Given the description of an element on the screen output the (x, y) to click on. 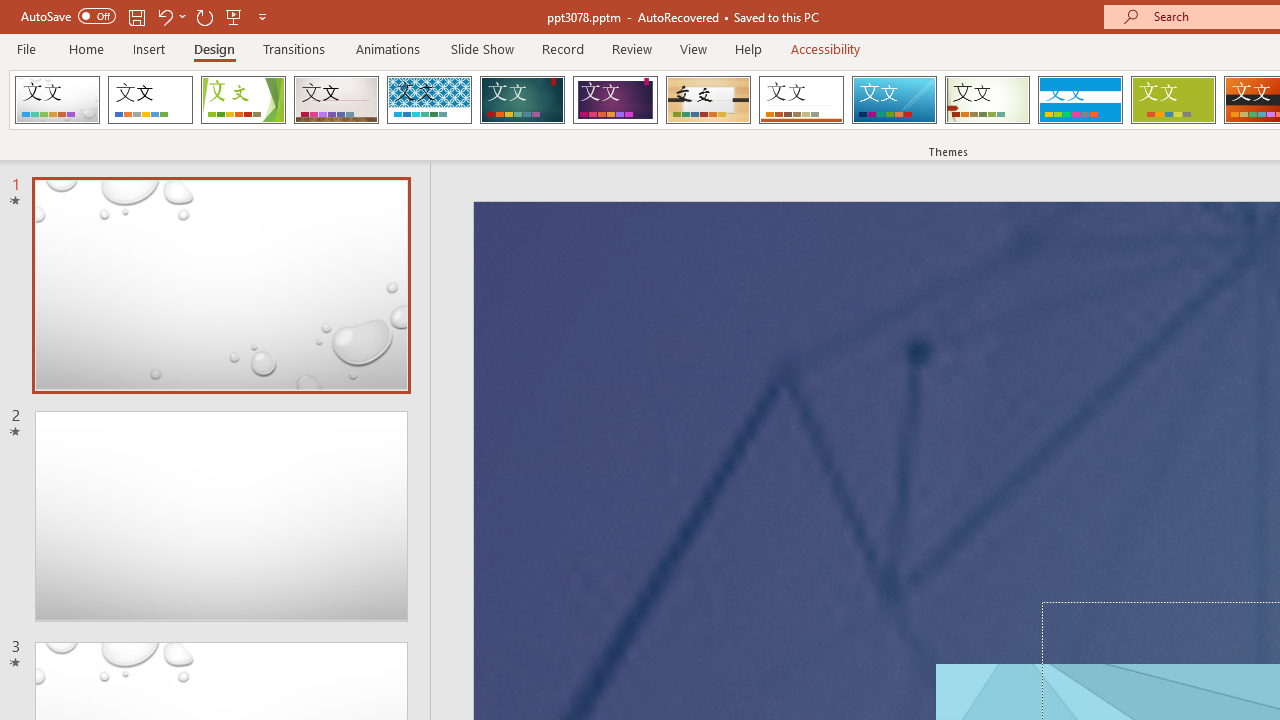
Banded (1080, 100)
Retrospect (801, 100)
Damask (57, 100)
Slice (893, 100)
